Given the description of an element on the screen output the (x, y) to click on. 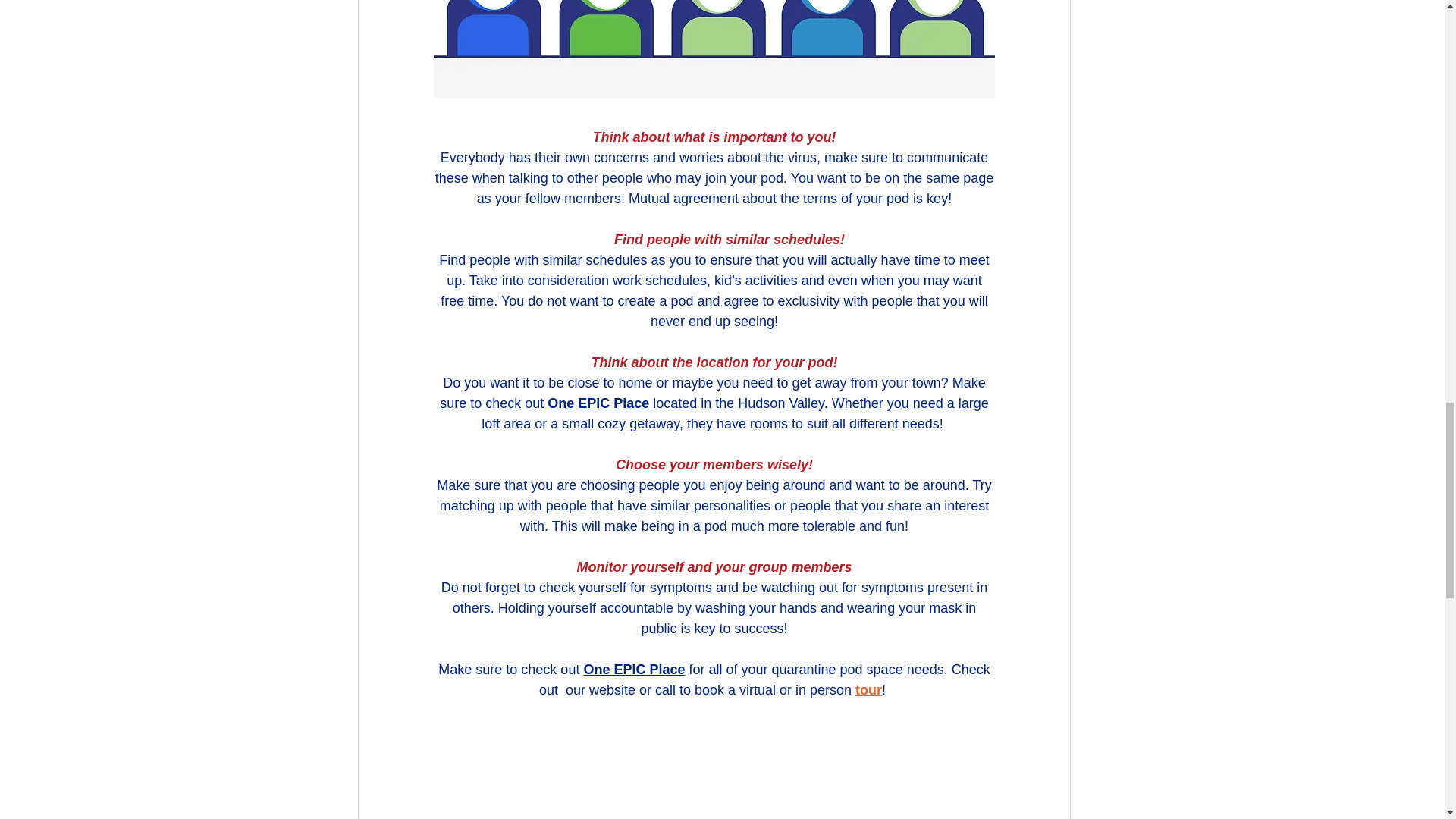
tour (869, 689)
One EPIC Place (633, 669)
One EPIC Place (598, 403)
